Given the description of an element on the screen output the (x, y) to click on. 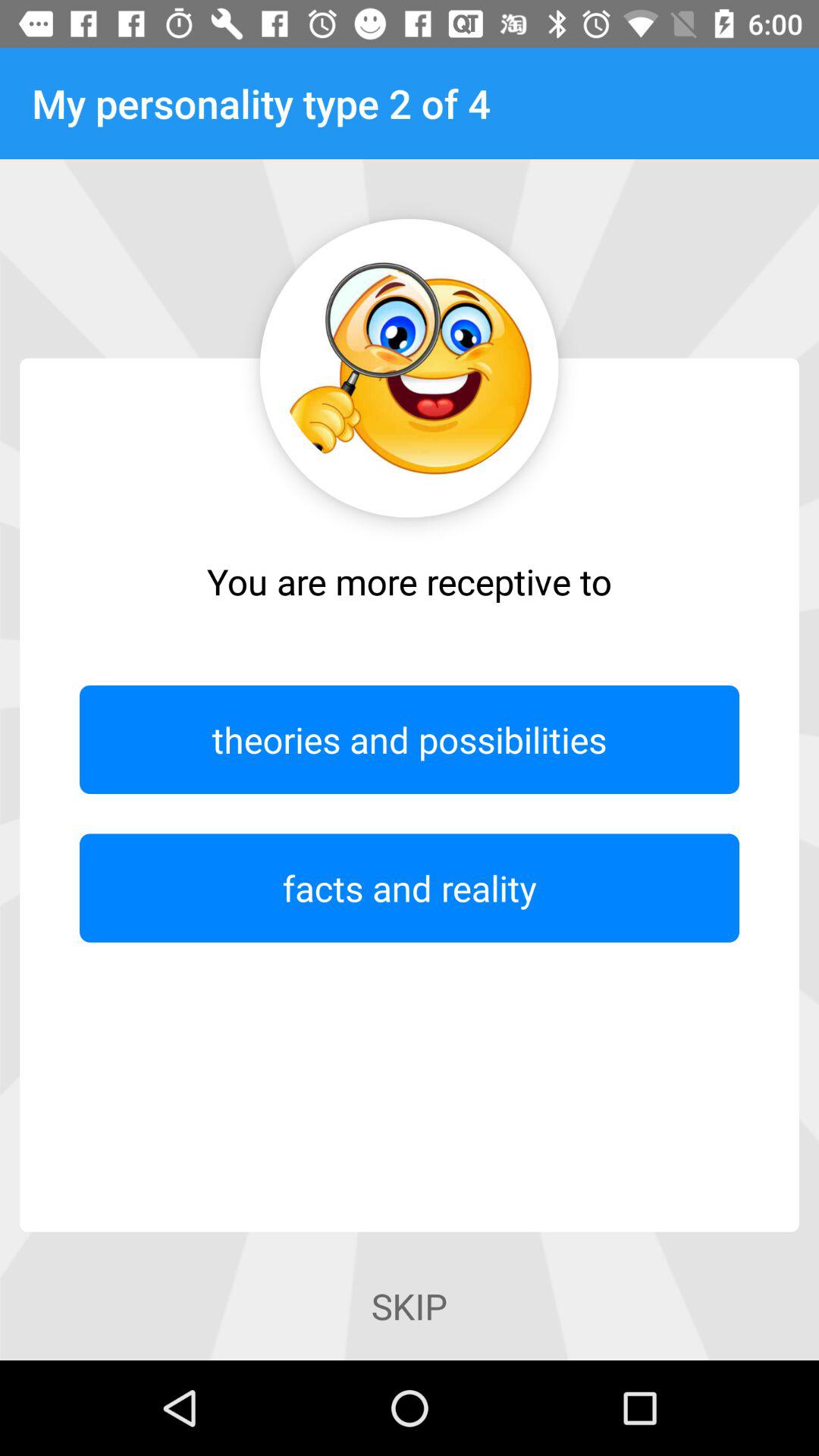
swipe until the skip item (409, 1305)
